Given the description of an element on the screen output the (x, y) to click on. 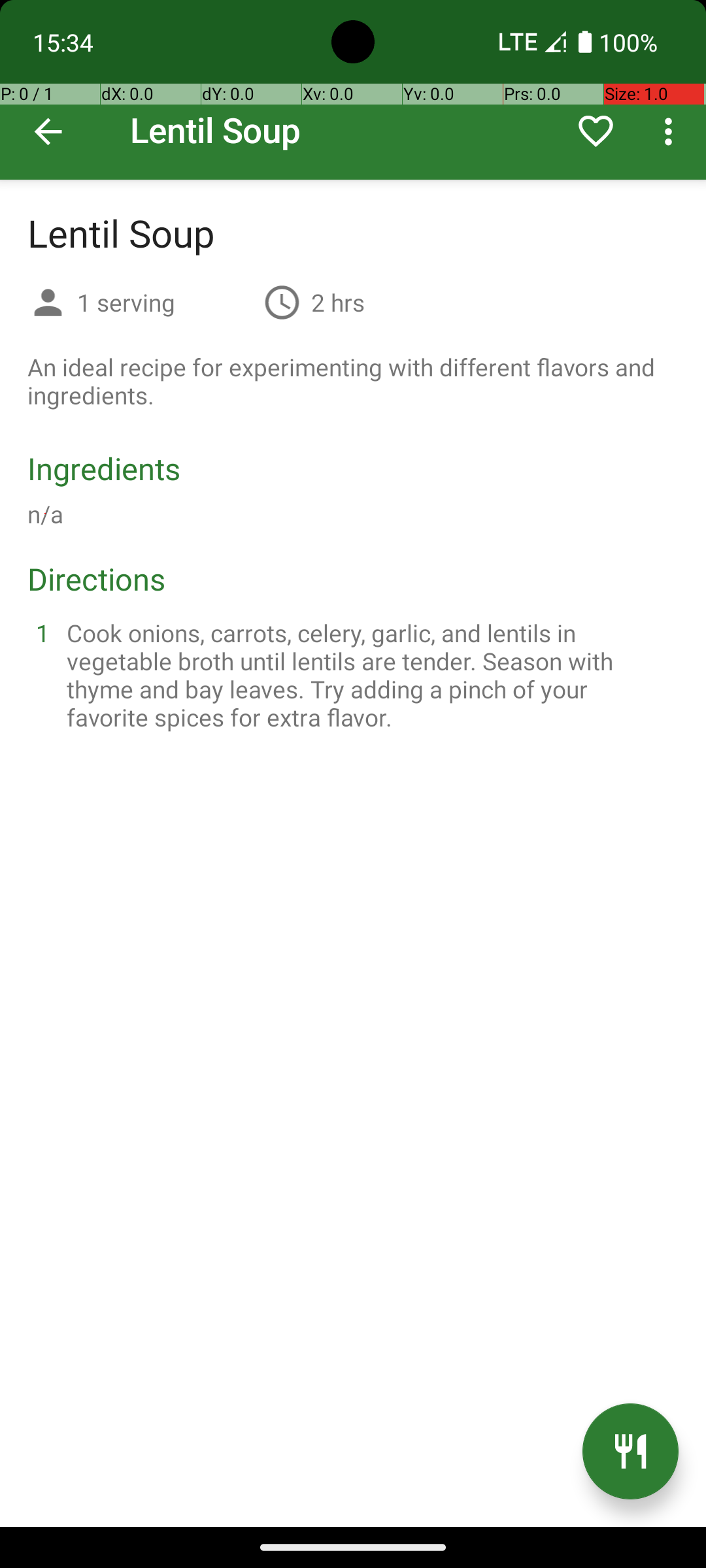
Cook onions, carrots, celery, garlic, and lentils in vegetable broth until lentils are tender. Season with thyme and bay leaves. Try adding a pinch of your favorite spices for extra flavor. Element type: android.widget.TextView (368, 674)
